Given the description of an element on the screen output the (x, y) to click on. 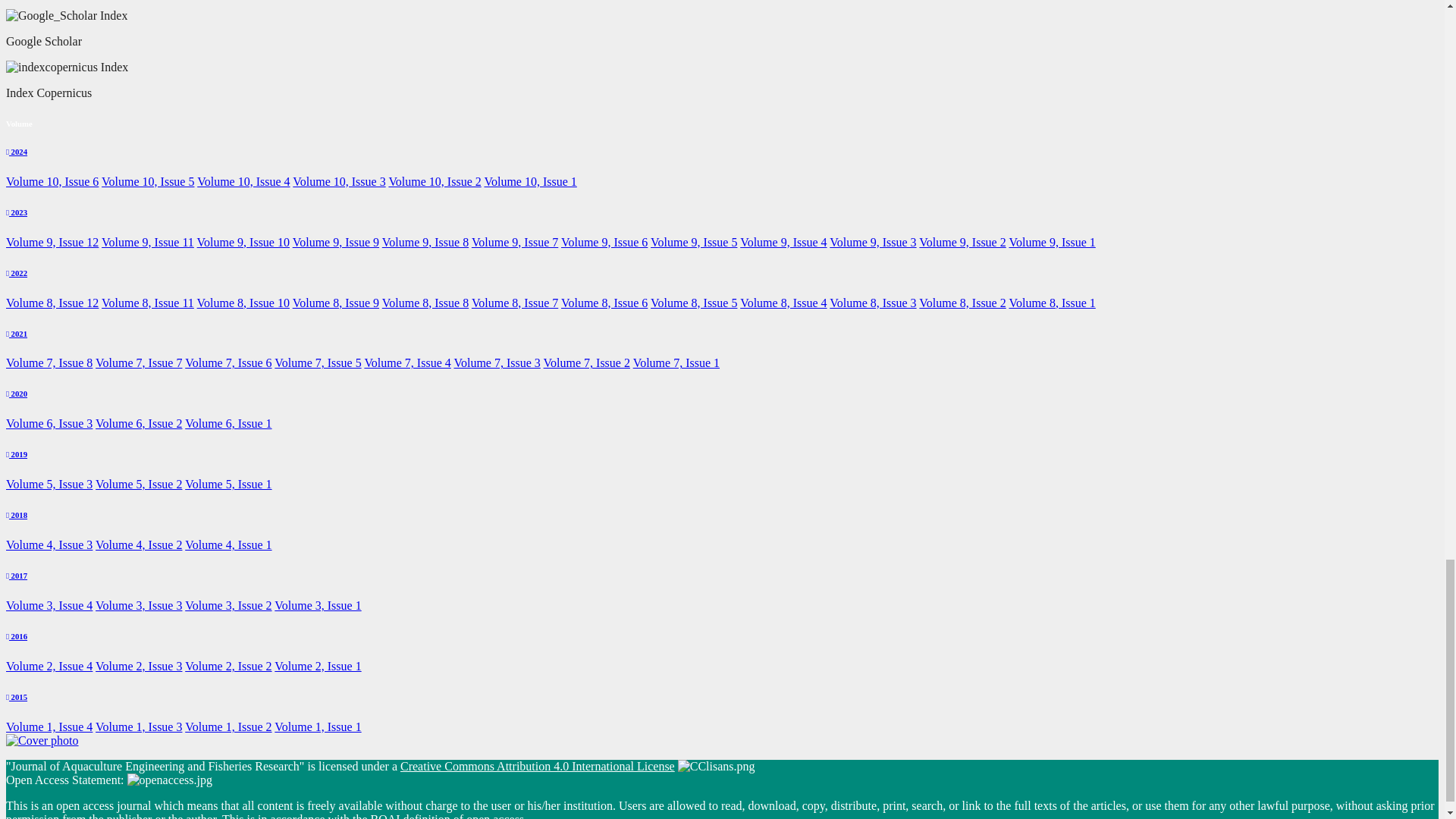
Volume 10, Issue 2 (434, 181)
Volume 10, Issue 6 (52, 181)
Volume 10, Issue 4 (242, 181)
2024 (16, 151)
Volume 10, Issue 5 (147, 181)
Volume 10, Issue 3 (338, 181)
